Given the description of an element on the screen output the (x, y) to click on. 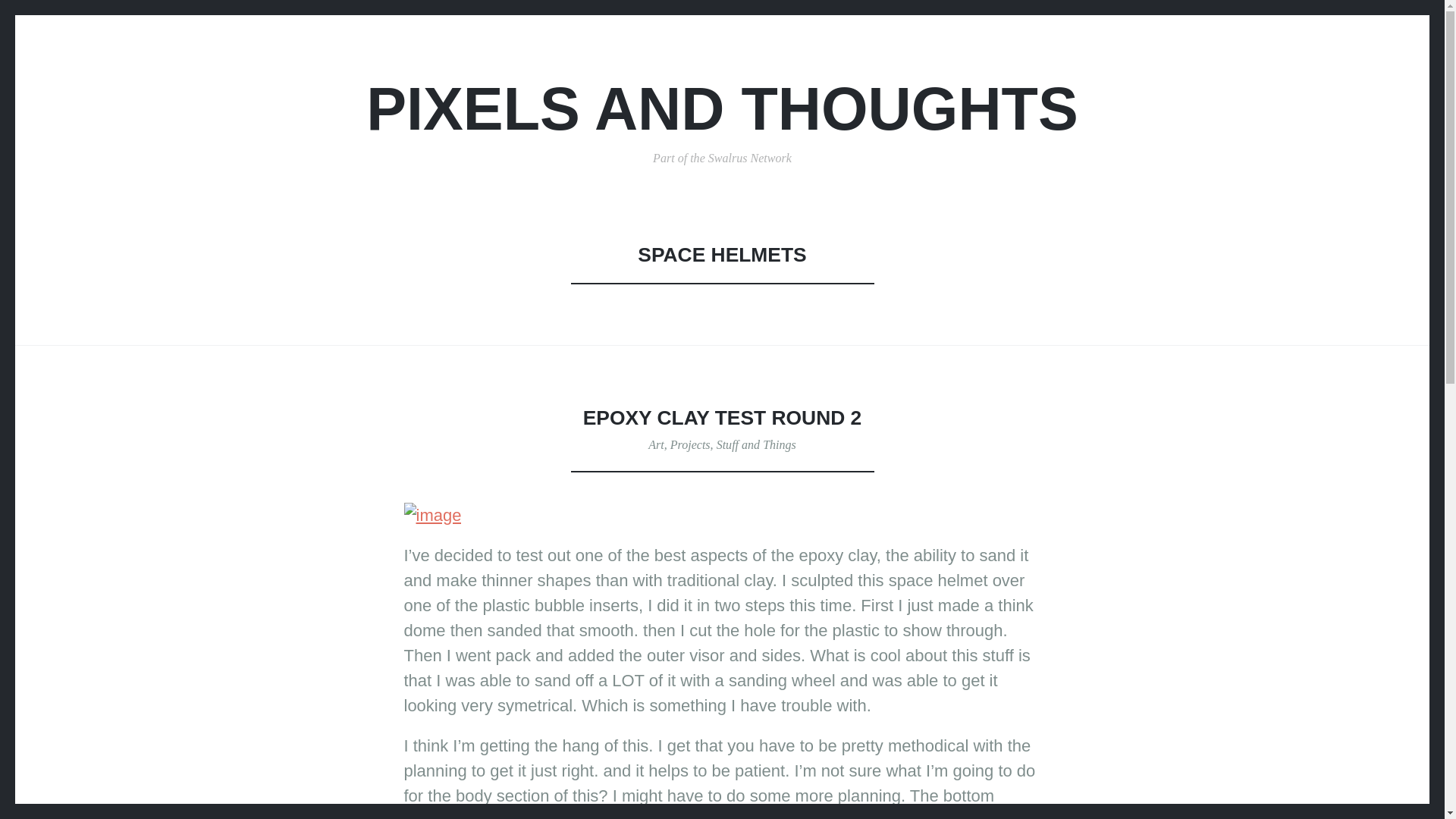
Art (655, 444)
Projects (689, 444)
Stuff and Things (756, 444)
IMAG0476.jpg (432, 514)
EPOXY CLAY TEST ROUND 2 (722, 417)
PIXELS AND THOUGHTS (722, 108)
